Given the description of an element on the screen output the (x, y) to click on. 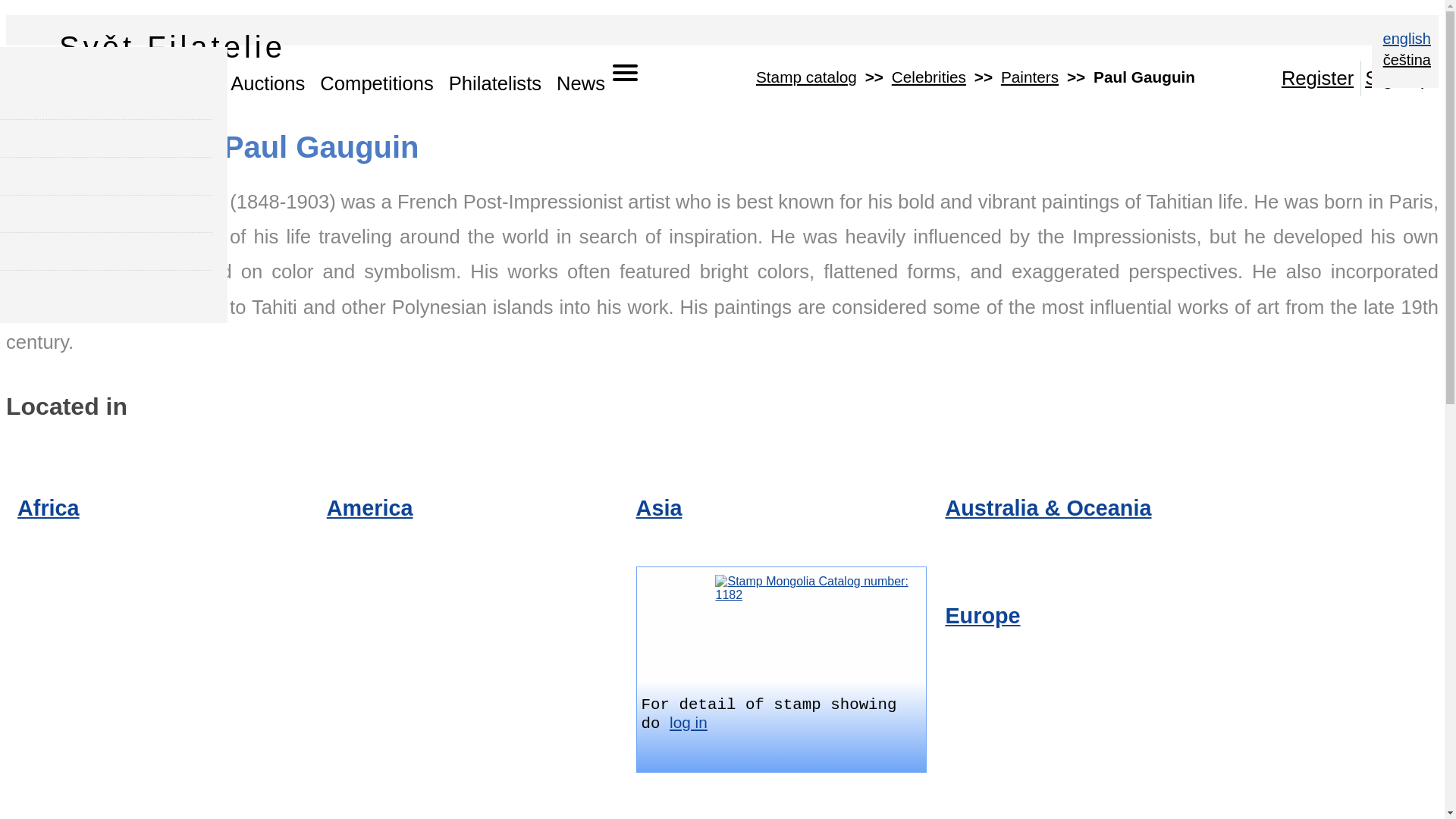
Stamp catalog (148, 83)
Blog (48, 83)
Register (1319, 78)
log in (688, 722)
english (1404, 40)
Philatelists (494, 83)
Asia (659, 508)
Philatelists (494, 83)
Register (1319, 78)
Celebrities (928, 76)
Stamp catalog (806, 76)
Competitions (377, 83)
Blog (48, 83)
Philatelly portal and catalog (13, 68)
Auctions (267, 83)
